Given the description of an element on the screen output the (x, y) to click on. 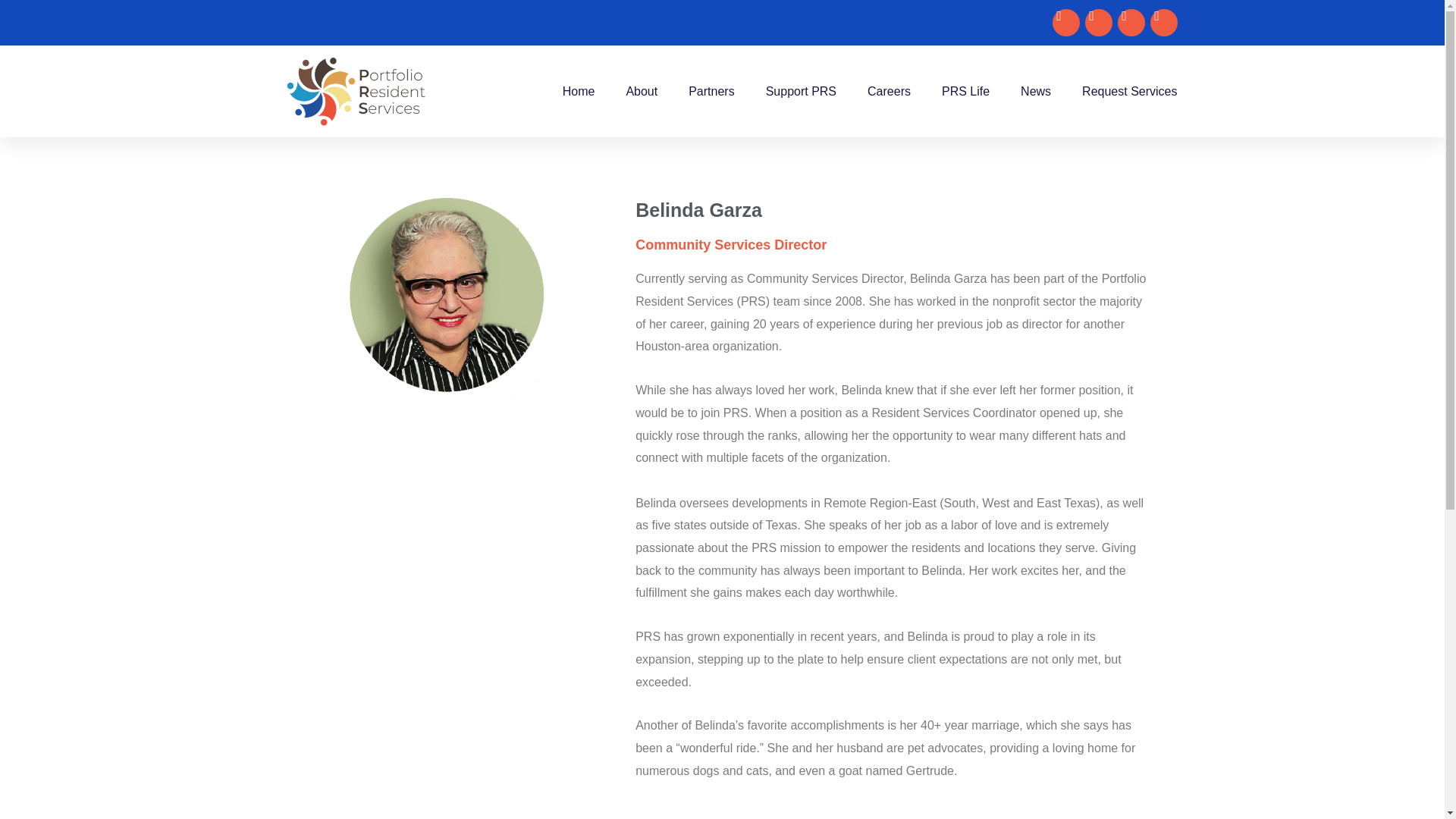
Support PRS (800, 91)
Partners (710, 91)
Facebook (1066, 22)
Instagram (1098, 22)
Careers (889, 91)
Linkedin (1163, 22)
PRS Life (966, 91)
About (642, 91)
Request Services (1128, 91)
Youtube (1131, 22)
Home (578, 91)
